Given the description of an element on the screen output the (x, y) to click on. 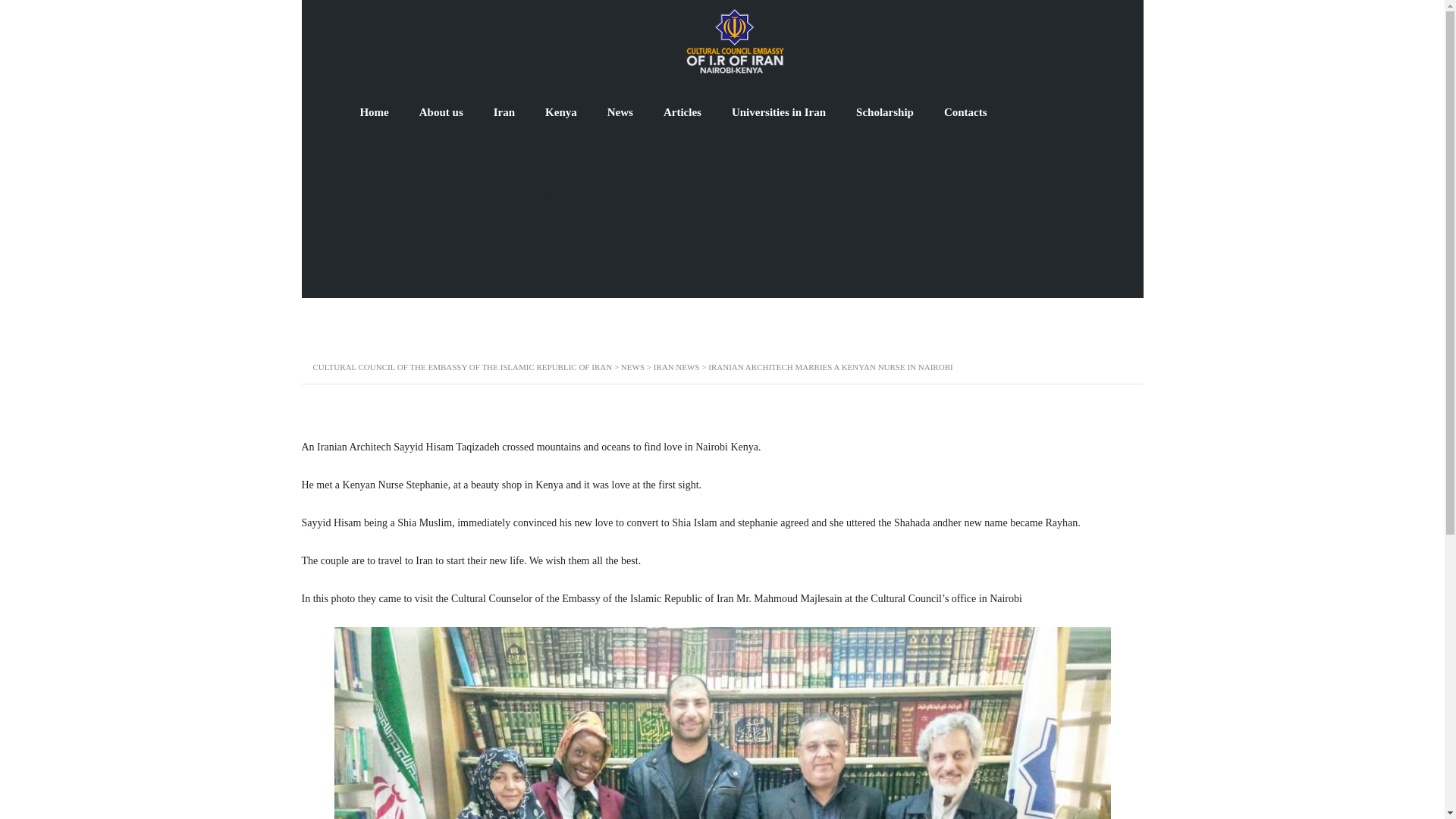
Articles (681, 113)
Contacts (965, 113)
Go to the Iran News Category archives. (676, 366)
Kenya (560, 113)
NEWS (633, 366)
News (619, 113)
Go to News. (633, 366)
Universities in Iran (778, 113)
IRAN NEWS (676, 366)
Scholarship (884, 113)
Home (373, 113)
About us (441, 113)
Iran (504, 113)
